Given the description of an element on the screen output the (x, y) to click on. 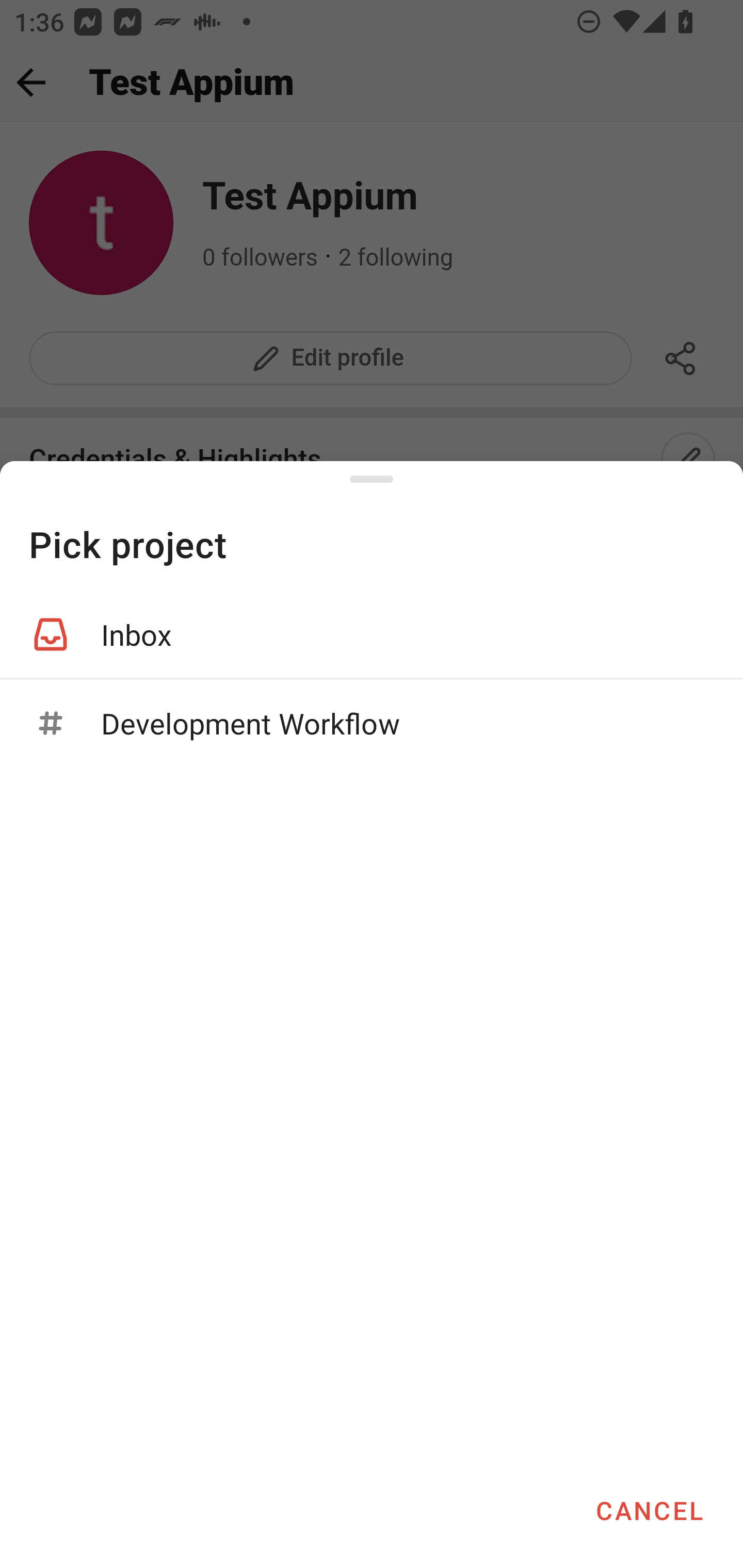
Inbox (371, 634)
Development Workflow (371, 723)
CANCEL (648, 1510)
